Given the description of an element on the screen output the (x, y) to click on. 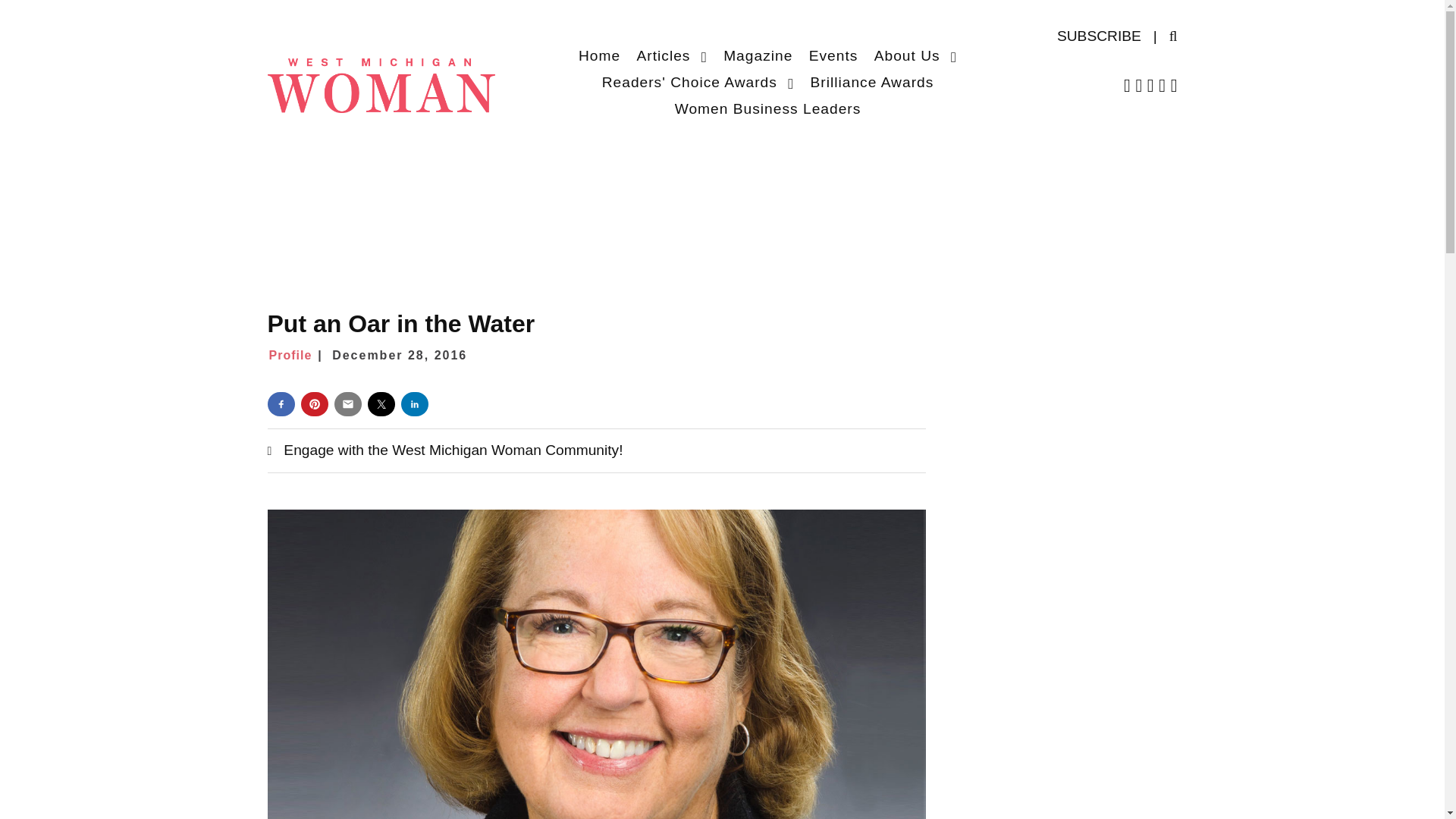
Women Business Leaders (767, 108)
Readers' Choice Awards (697, 81)
3rd party ad content (1062, 527)
3rd party ad content (721, 178)
About Us (914, 55)
Events (833, 55)
Denali (380, 82)
3rd party ad content (1062, 744)
Brilliance Awards (872, 81)
Magazine (757, 55)
Home (599, 55)
Profile (297, 355)
SUBSCRIBE (1099, 35)
